Given the description of an element on the screen output the (x, y) to click on. 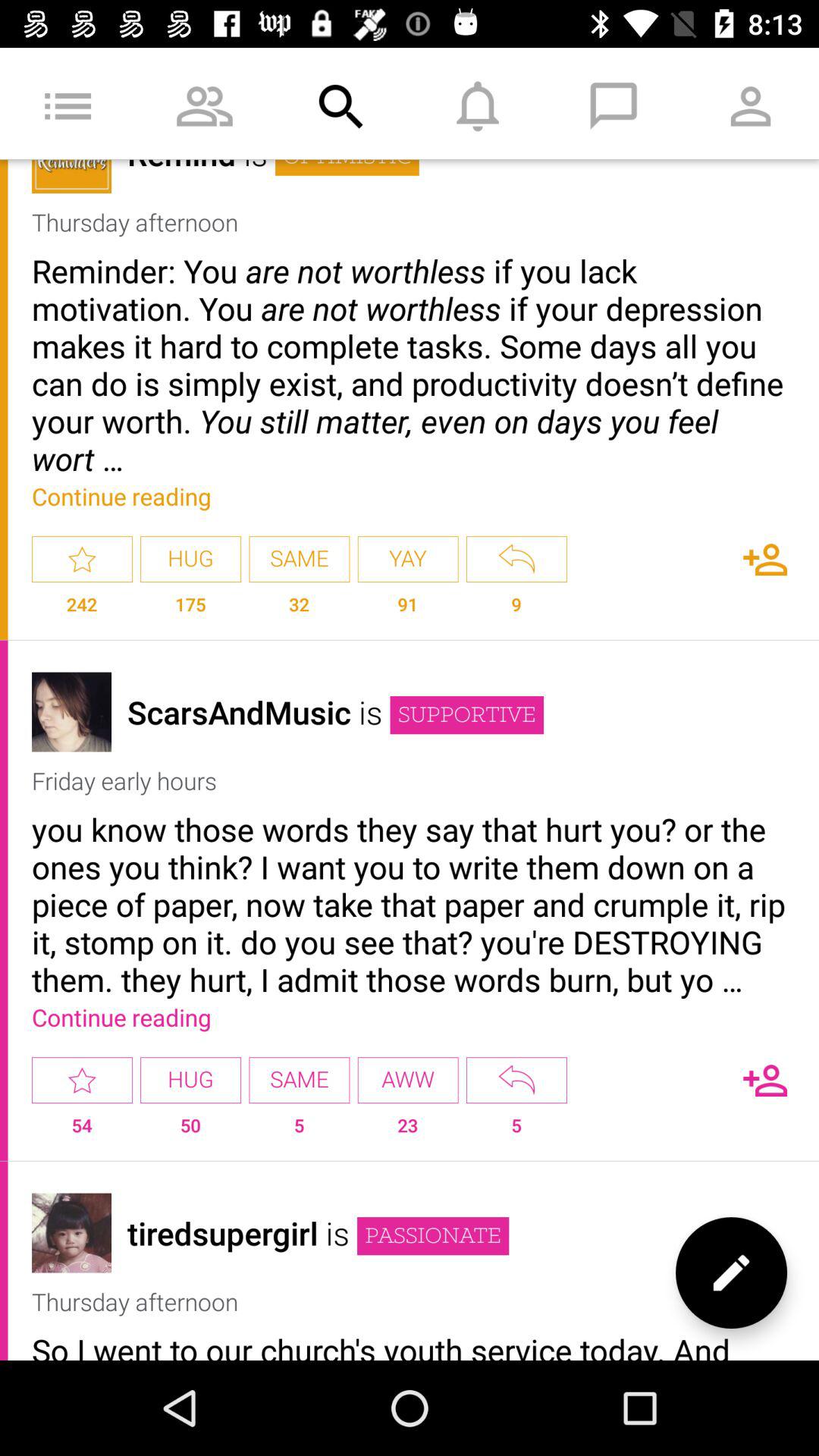
choose the item above friday early hours (466, 715)
